Given the description of an element on the screen output the (x, y) to click on. 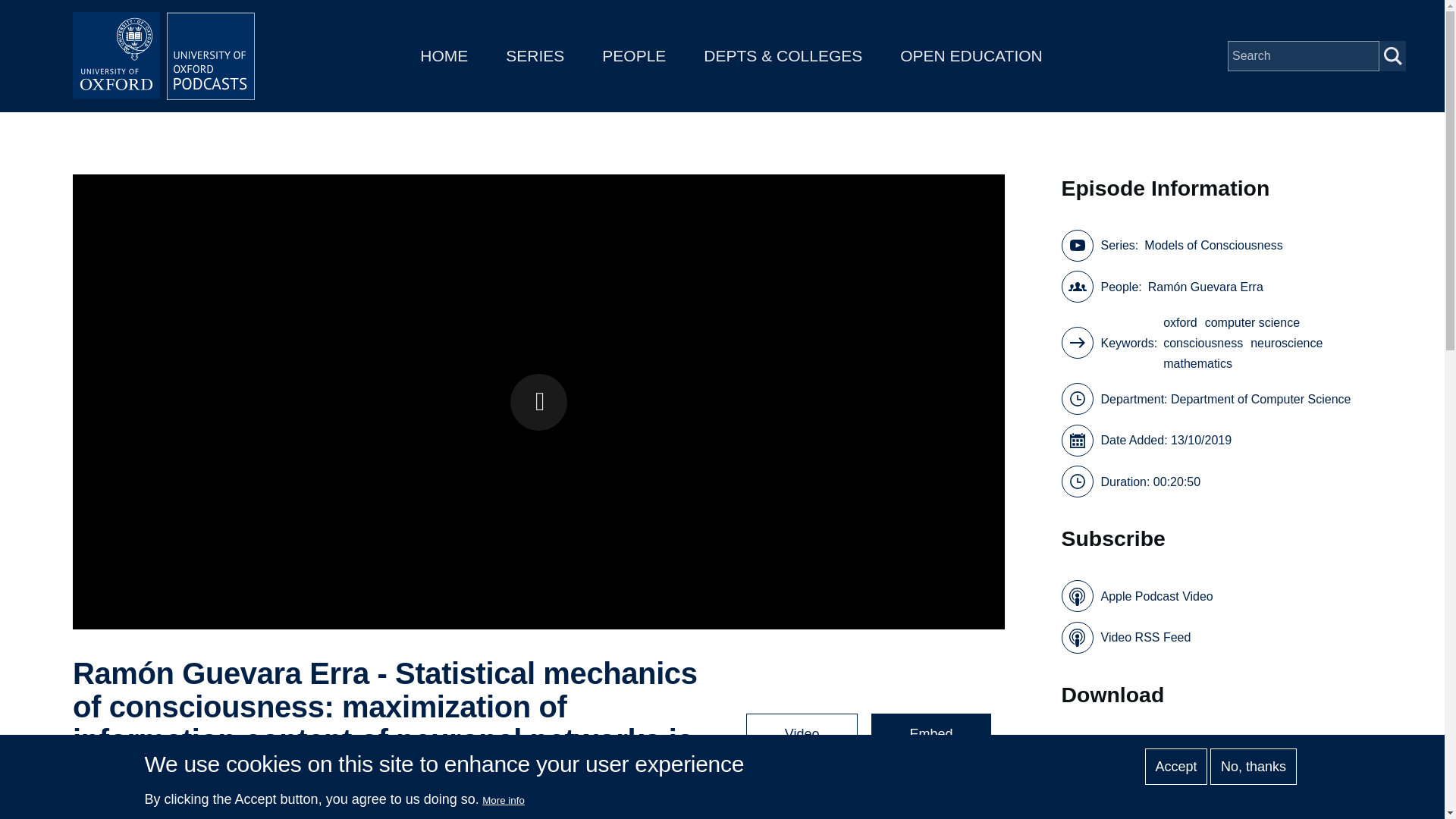
Video (802, 733)
Embed (930, 733)
OPEN EDUCATION (970, 55)
consciousness (1203, 342)
neuroscience (1286, 342)
HOME (443, 55)
Models of Consciousness (223, 809)
mathematics (1197, 362)
computer science (1252, 322)
SERIES (534, 55)
